Given the description of an element on the screen output the (x, y) to click on. 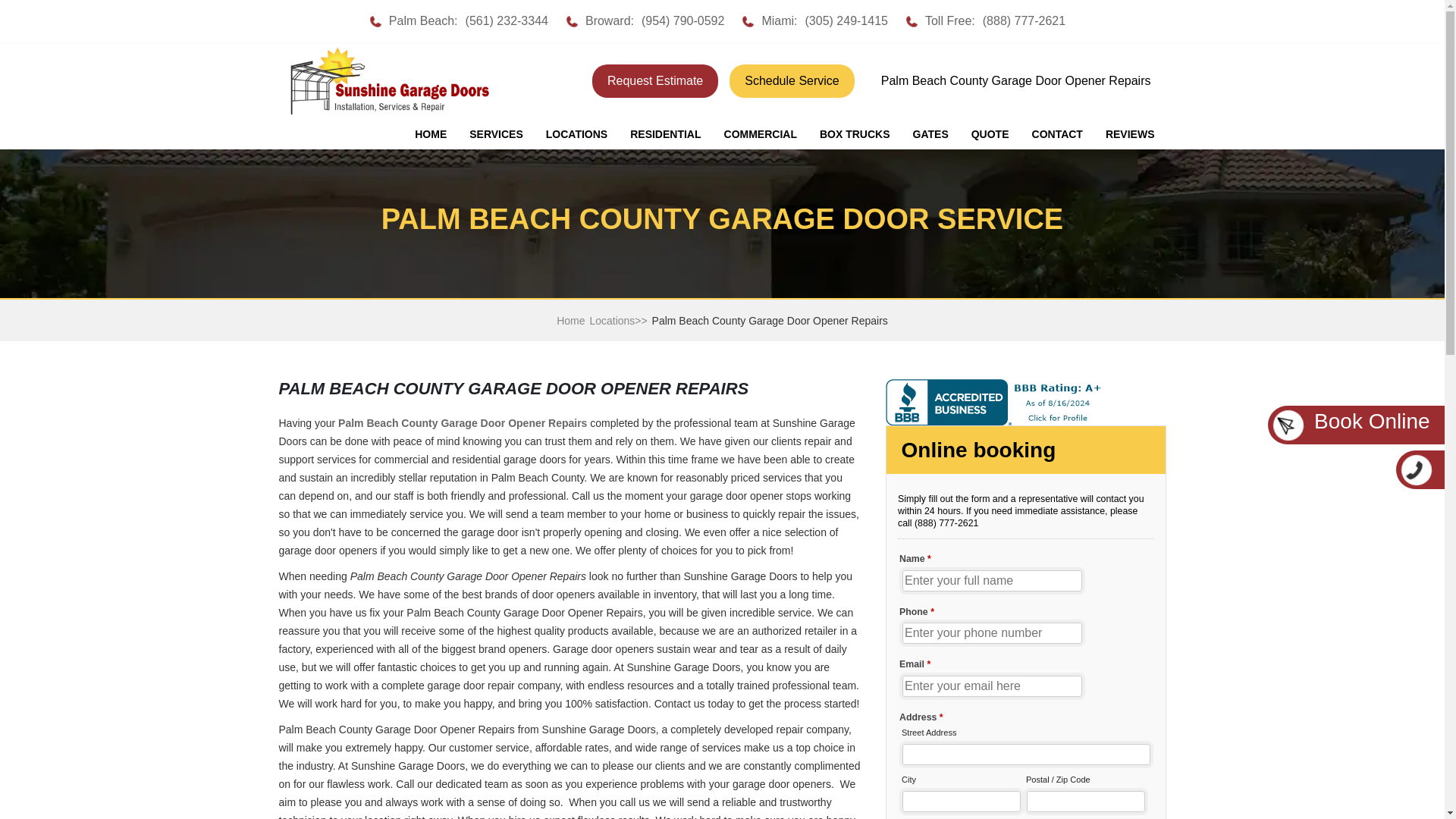
SERVICES (495, 133)
GATES (930, 133)
HOME (430, 133)
COMMERCIAL (759, 133)
Schedule Service (791, 80)
LOCATIONS (576, 133)
QUOTE (990, 133)
RESIDENTIAL (665, 133)
Request Estimate (654, 80)
